Given the description of an element on the screen output the (x, y) to click on. 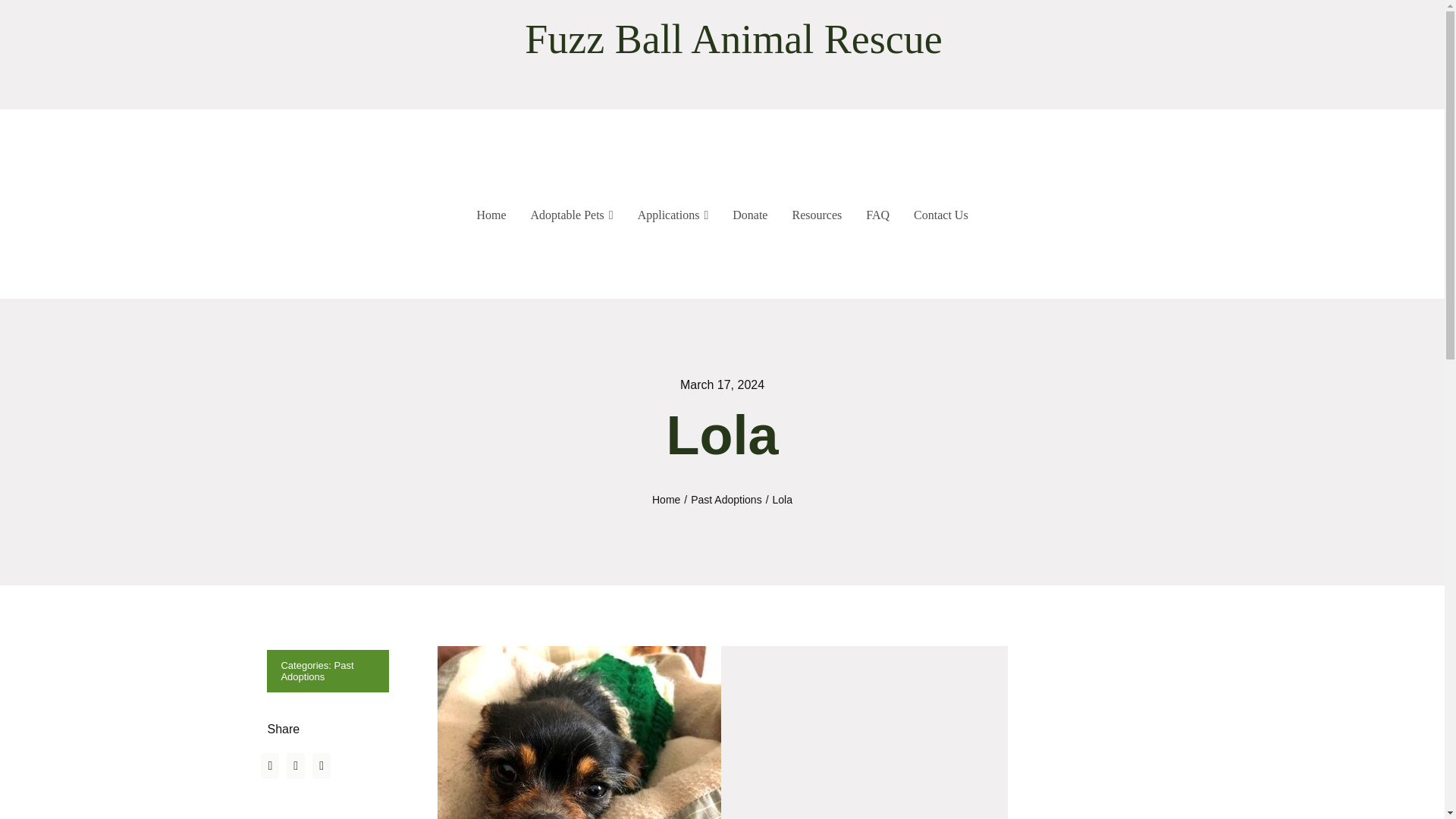
Past Adoptions (317, 671)
Donate (749, 215)
Adoptable Pets (566, 215)
Applications (668, 215)
Home (665, 499)
lola (578, 732)
Past Adoptions (725, 499)
Contact Us (940, 215)
FAQ (877, 215)
Resources (816, 215)
Home (491, 215)
